Given the description of an element on the screen output the (x, y) to click on. 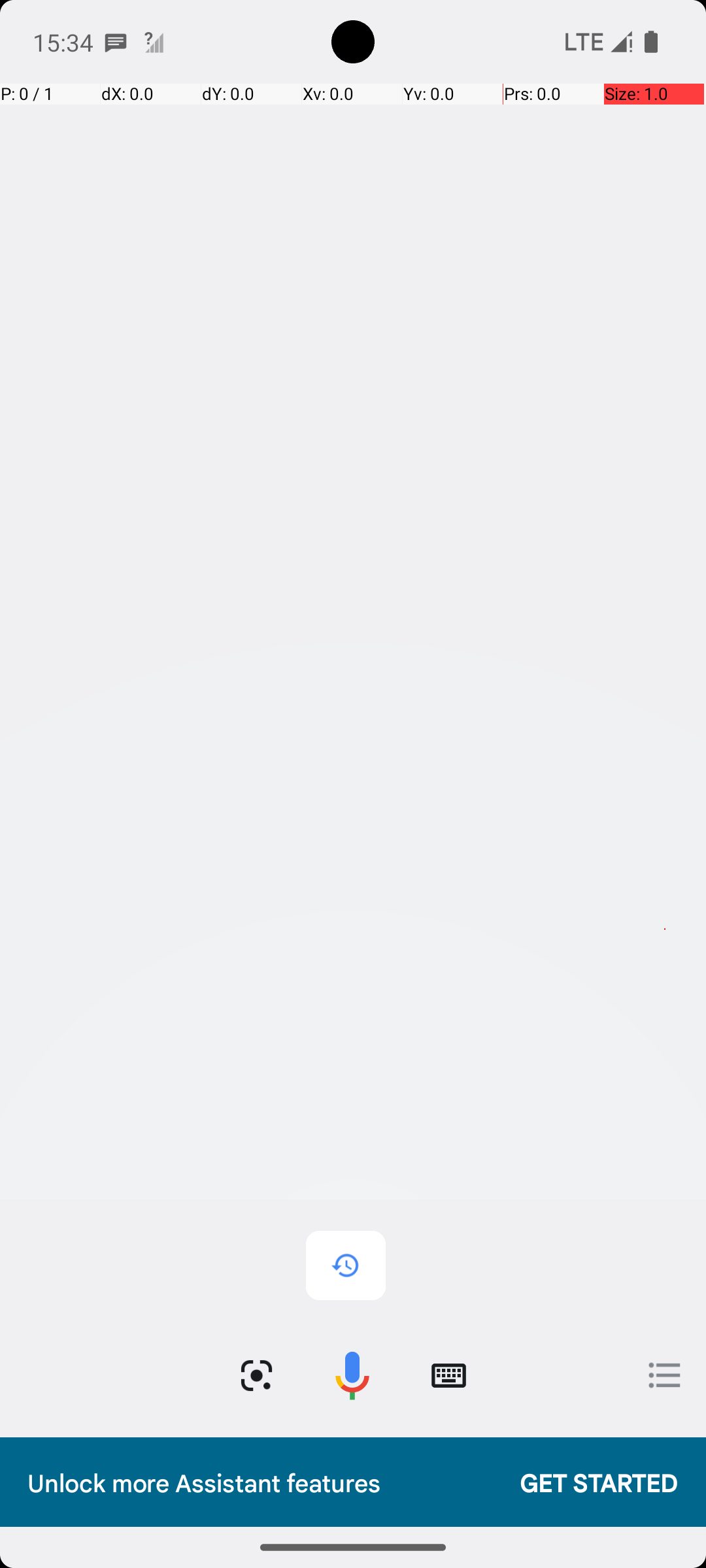
Tap to dismiss Assistant Element type: android.view.ViewGroup (353, 804)
Google Assistant widget. Element type: android.support.v7.widget.RecyclerView (353, 760)
Voice search button, tap to speak Element type: android.view.View (351, 1375)
Type mode Element type: android.widget.ImageView (448, 1375)
Unlock more Assistant features Element type: android.widget.TextView (259, 1481)
GET STARTED Element type: android.widget.TextView (585, 1481)
Open explore page Element type: android.widget.ImageView (664, 1375)
